Given the description of an element on the screen output the (x, y) to click on. 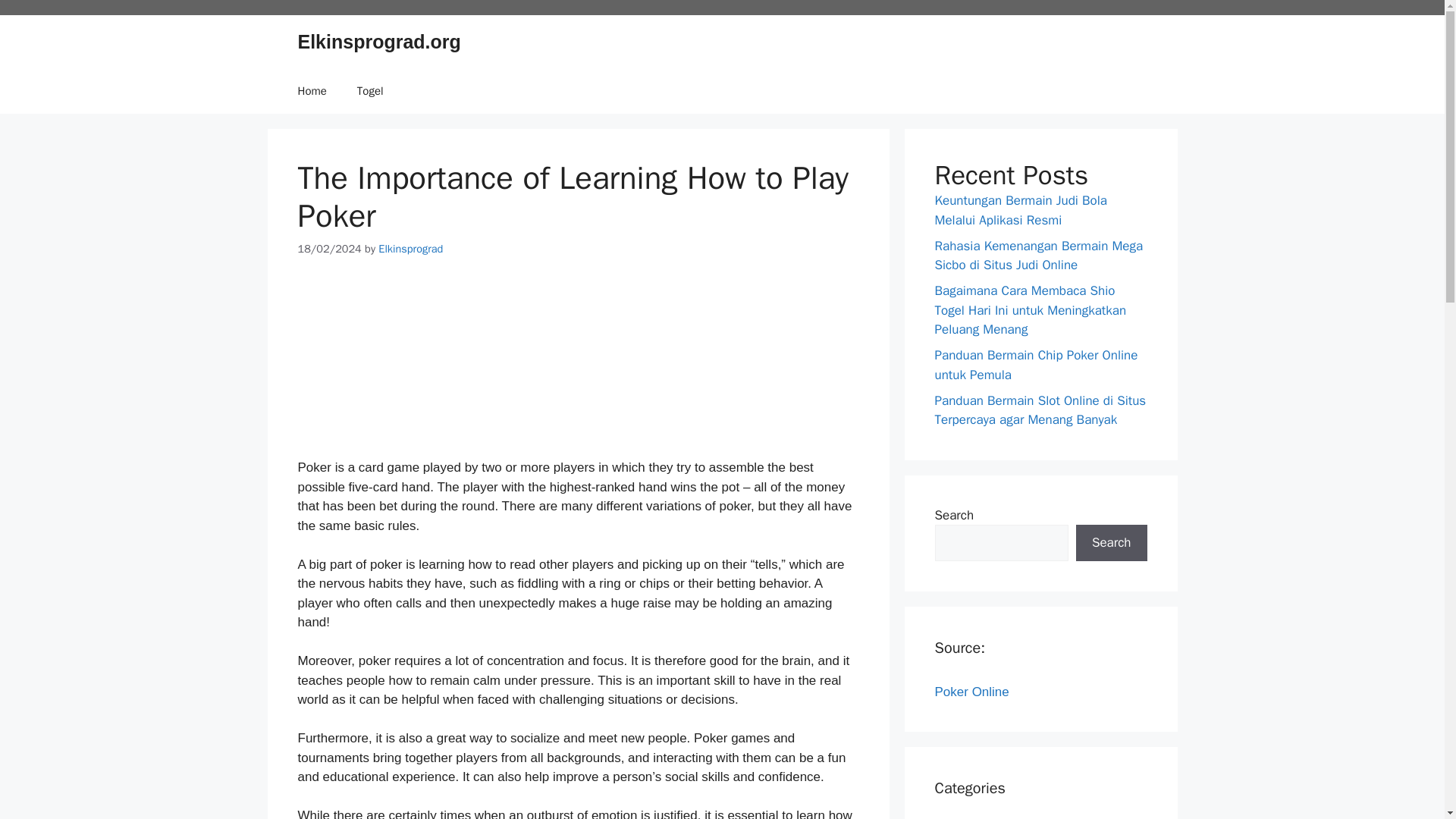
Search (1111, 542)
Poker Online (971, 690)
Home (311, 90)
Elkinsprograd.org (378, 41)
View all posts by Elkinsprograd (410, 248)
Rahasia Kemenangan Bermain Mega Sicbo di Situs Judi Online (1038, 255)
Panduan Bermain Chip Poker Online untuk Pemula (1035, 365)
Elkinsprograd (410, 248)
